Given the description of an element on the screen output the (x, y) to click on. 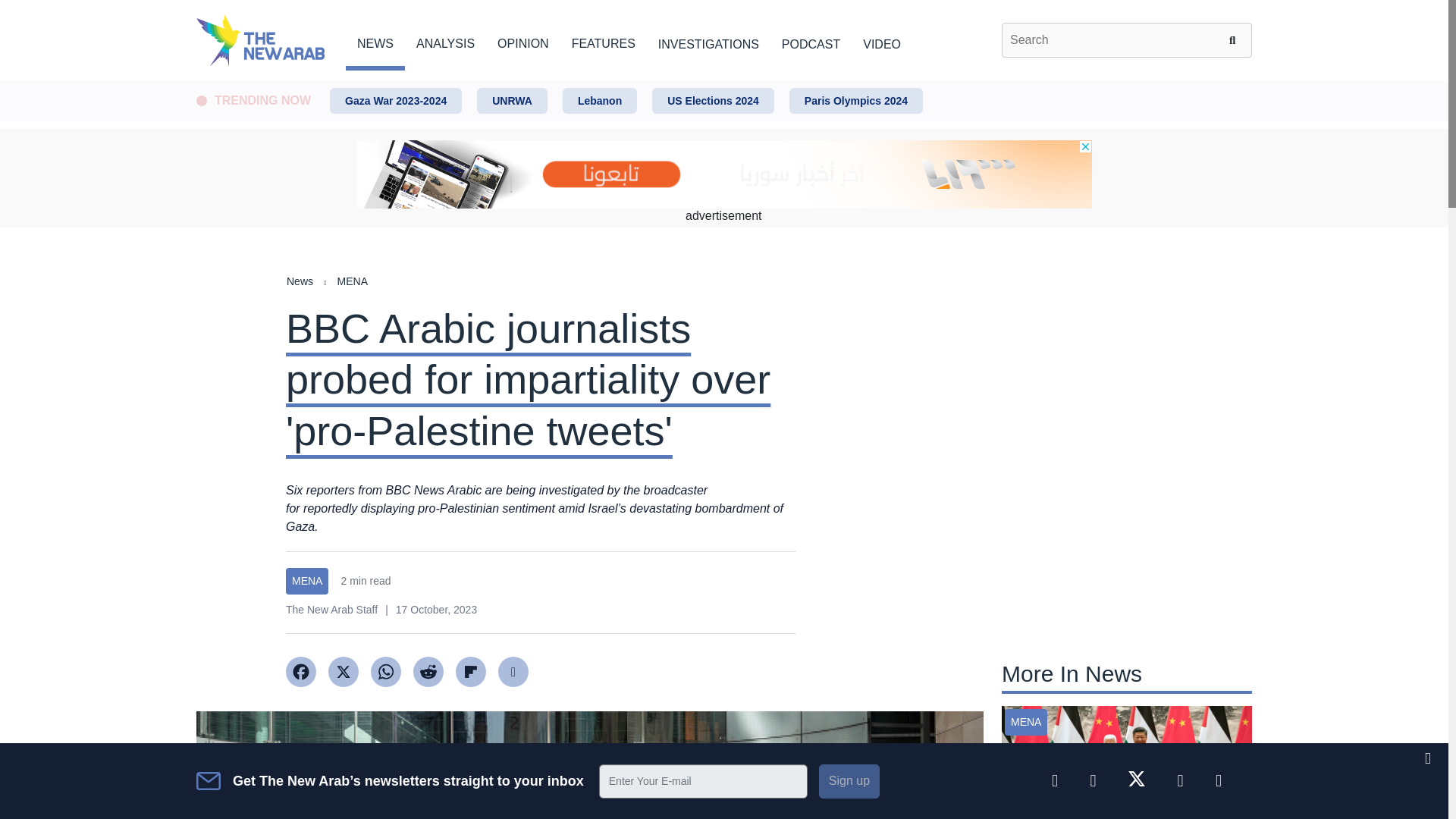
OPINION (523, 41)
NEWS (375, 41)
Search (1234, 39)
Skip to main content (724, 81)
ANALYSIS (445, 41)
